Given the description of an element on the screen output the (x, y) to click on. 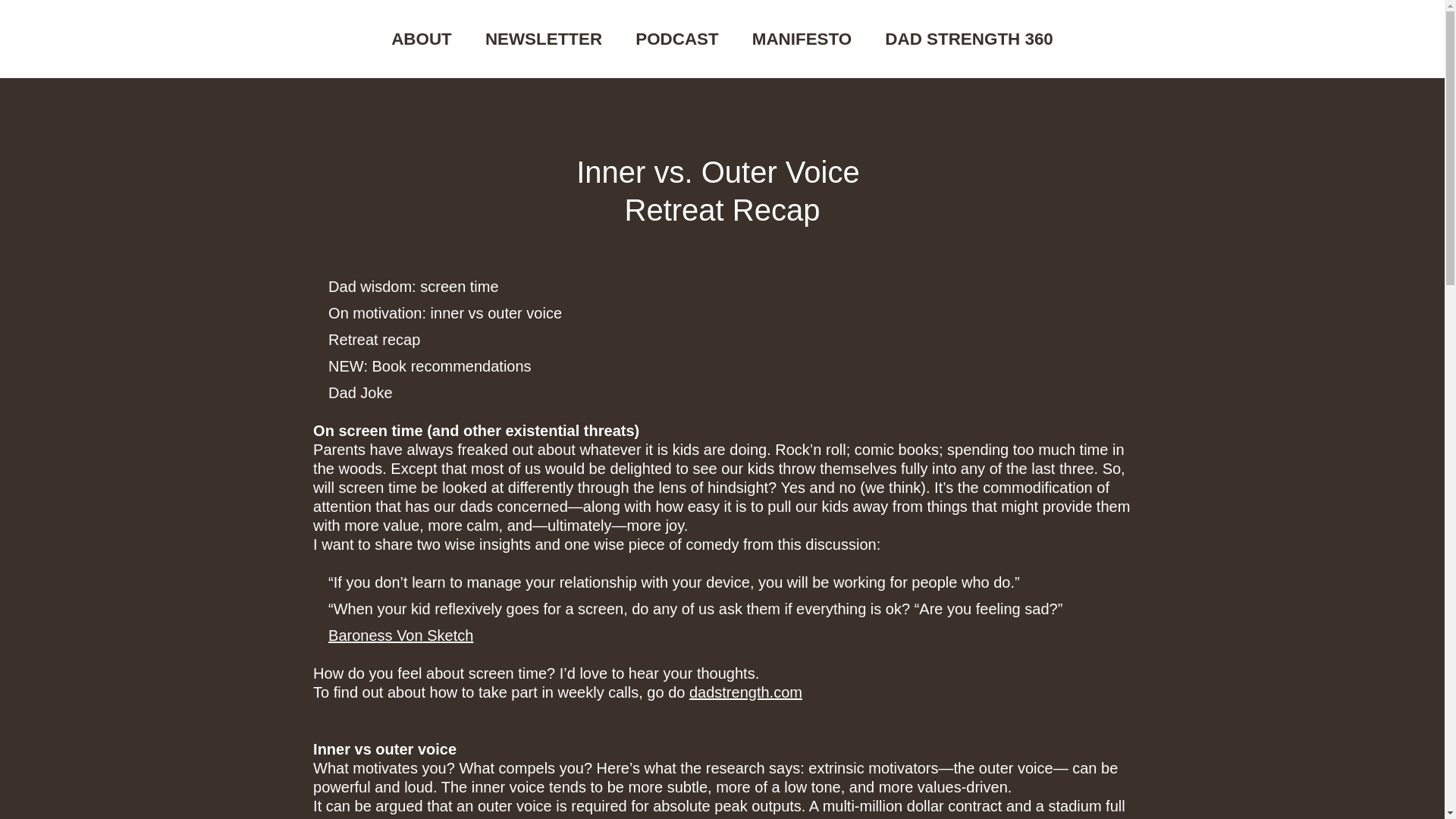
PODCAST (675, 39)
dadstrength.com (745, 692)
MANIFESTO (801, 39)
Baroness Von Sketch (401, 635)
DAD STRENGTH 360 (968, 39)
NEWSLETTER (543, 39)
ABOUT (421, 39)
